Given the description of an element on the screen output the (x, y) to click on. 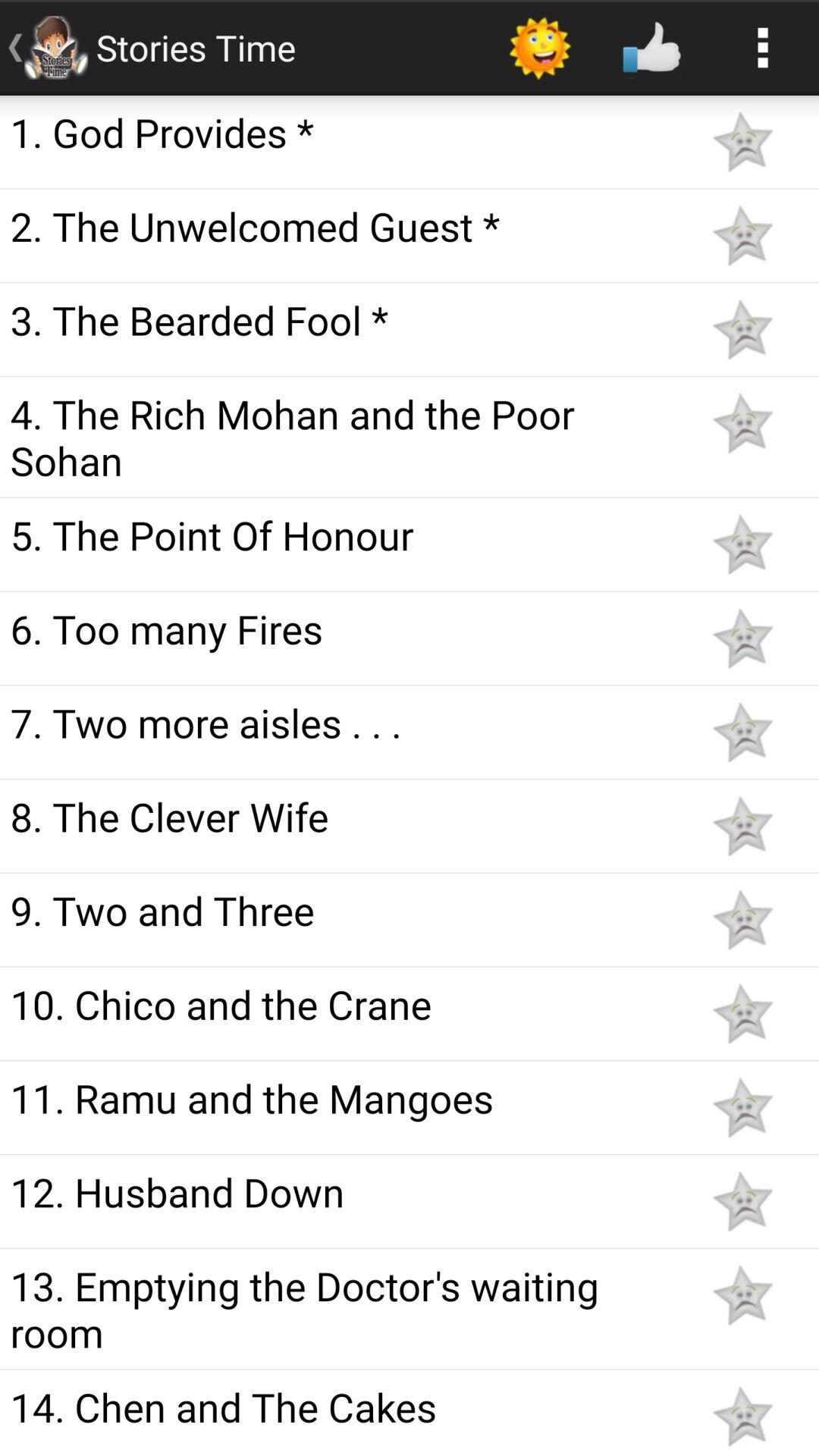
rate this story (742, 1013)
